Given the description of an element on the screen output the (x, y) to click on. 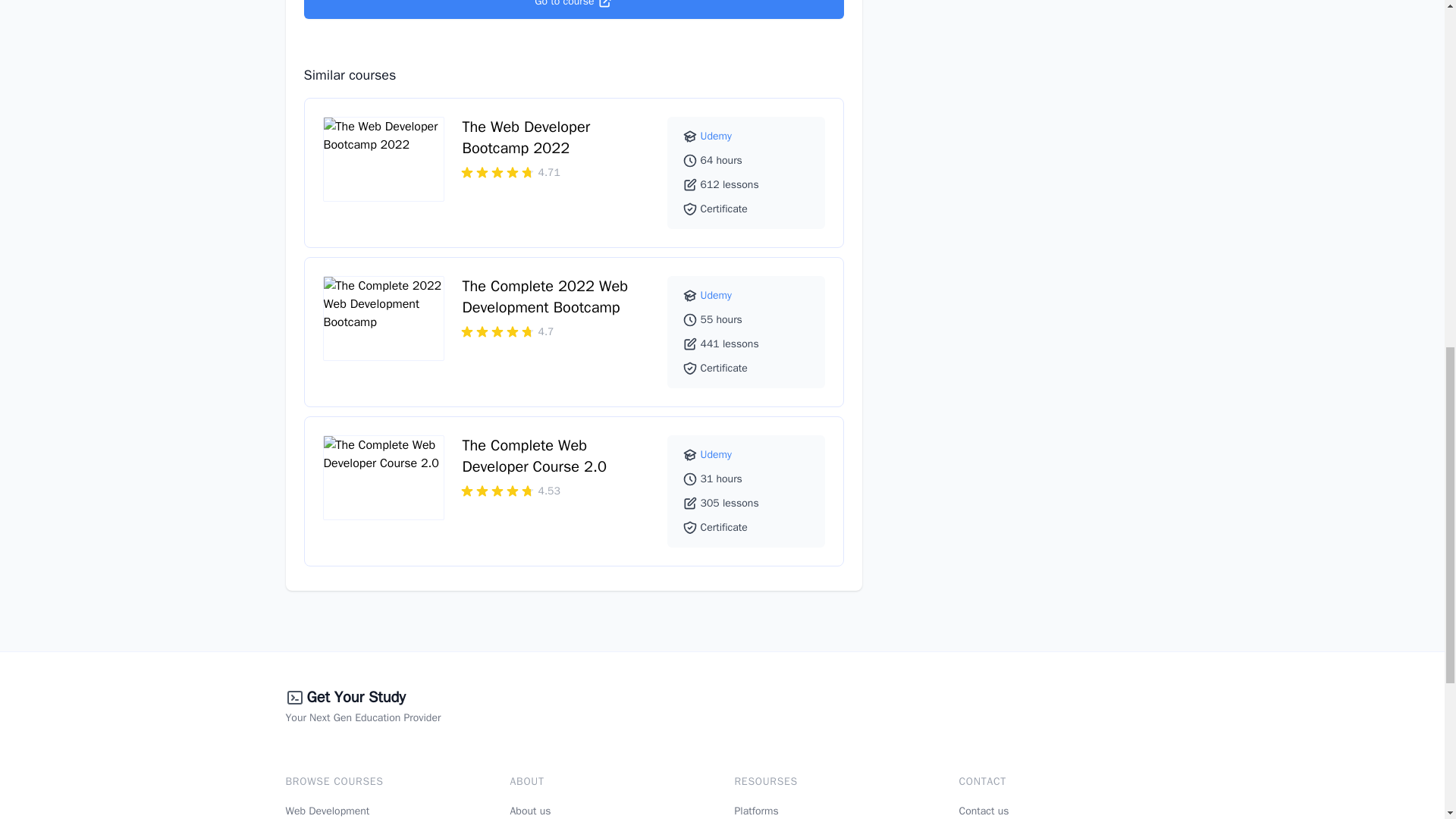
Go to course (572, 9)
Udemy (716, 135)
Web Development (327, 810)
The Web Developer Bootcamp 2022 (527, 137)
Udemy (716, 295)
Get Your Study (354, 697)
The Complete Web Developer Course 2.0 (535, 455)
The Complete 2022 Web Development Bootcamp (545, 296)
Udemy (716, 454)
